Given the description of an element on the screen output the (x, y) to click on. 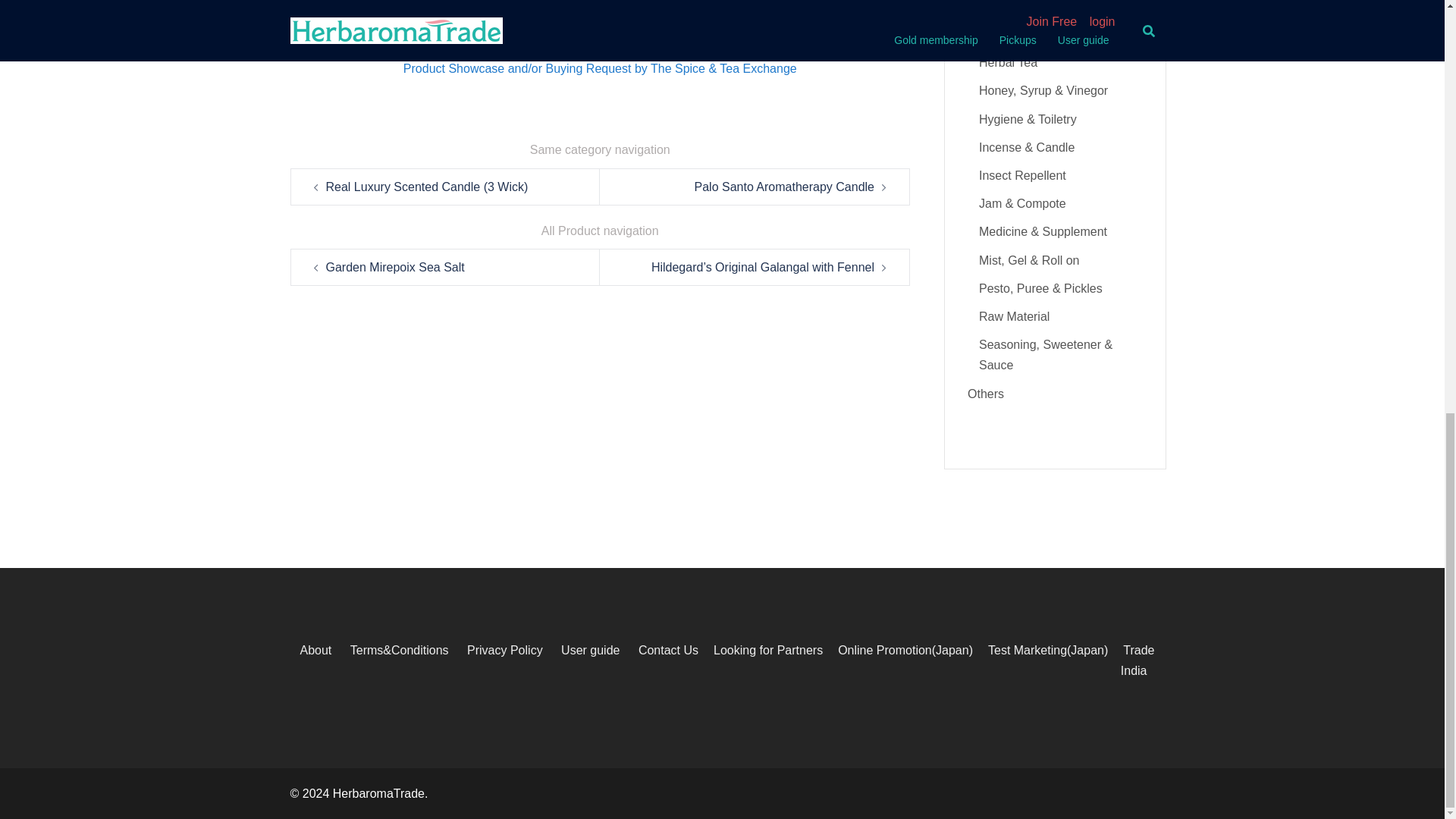
send message (600, 20)
Palo Santo Aromatherapy Candle (784, 186)
Garden Mirepoix Sea Salt (395, 267)
